Given the description of an element on the screen output the (x, y) to click on. 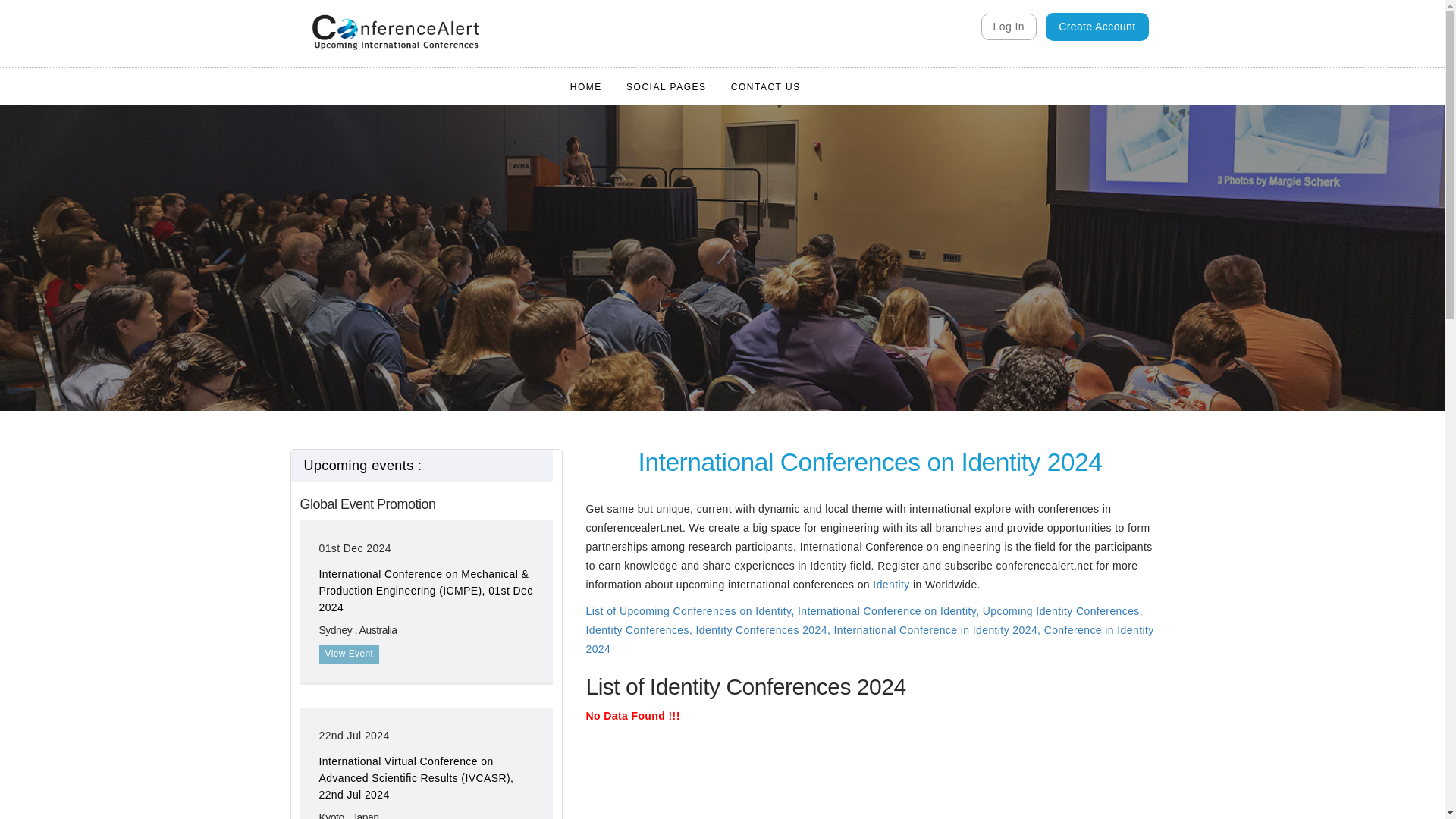
International Conference on Identity, (889, 611)
Identity Conferences 2024, (763, 630)
Log In (1008, 26)
Upcoming Identity Conferences, (1062, 611)
Create Account (1096, 26)
HOME (585, 86)
View Event (348, 653)
Conference in Identity 2024 (869, 639)
List of Upcoming Conferences on Identity, (689, 611)
HOME SOCIAL PAGES CONTACT US (684, 86)
International Conference in Identity 2024, (938, 630)
CONTACT US (765, 86)
Identity (890, 584)
SOCIAL PAGES (665, 86)
Identity Conferences, (640, 630)
